Given the description of an element on the screen output the (x, y) to click on. 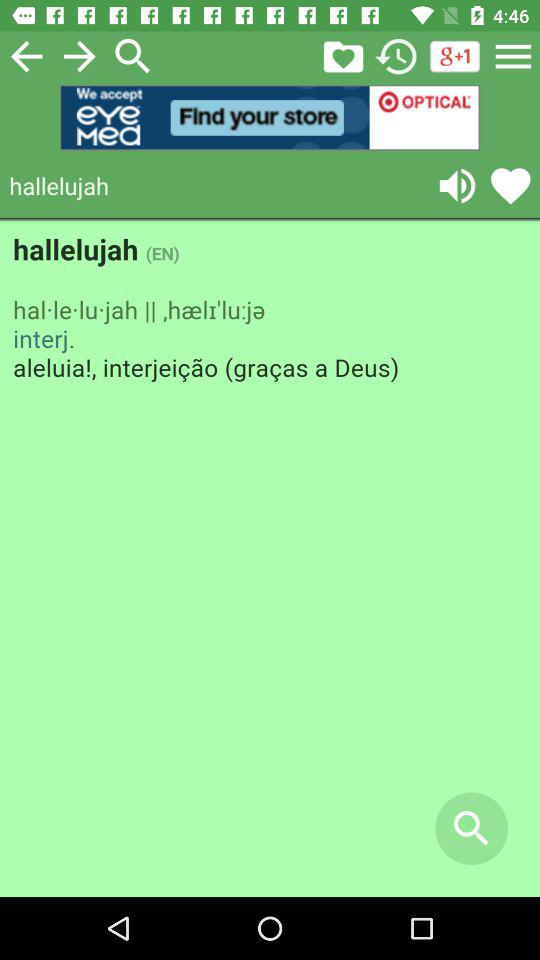
view the advertisement (270, 117)
